Given the description of an element on the screen output the (x, y) to click on. 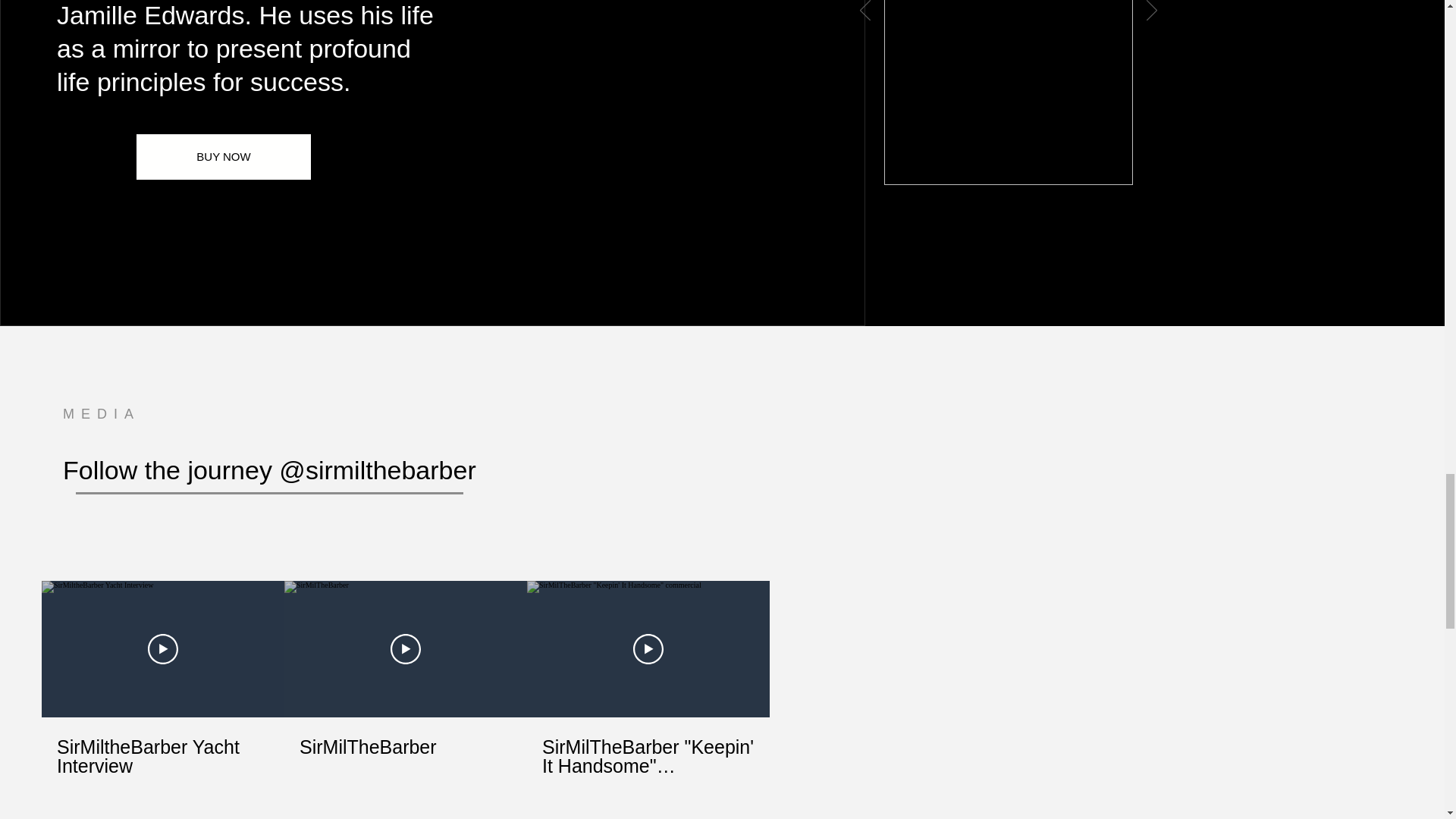
SirMiltheBarber Yacht Interview (162, 756)
SirMilTheBarber (405, 737)
SirMilTheBarber (405, 746)
SirMiltheBarber Yacht Interview (162, 747)
SirMilTheBarber "Keepin' It Handsome" commercial (648, 747)
BUY NOW (223, 156)
SirMilTheBarber "Keepin' It Handsome" commercial (647, 756)
